Given the description of an element on the screen output the (x, y) to click on. 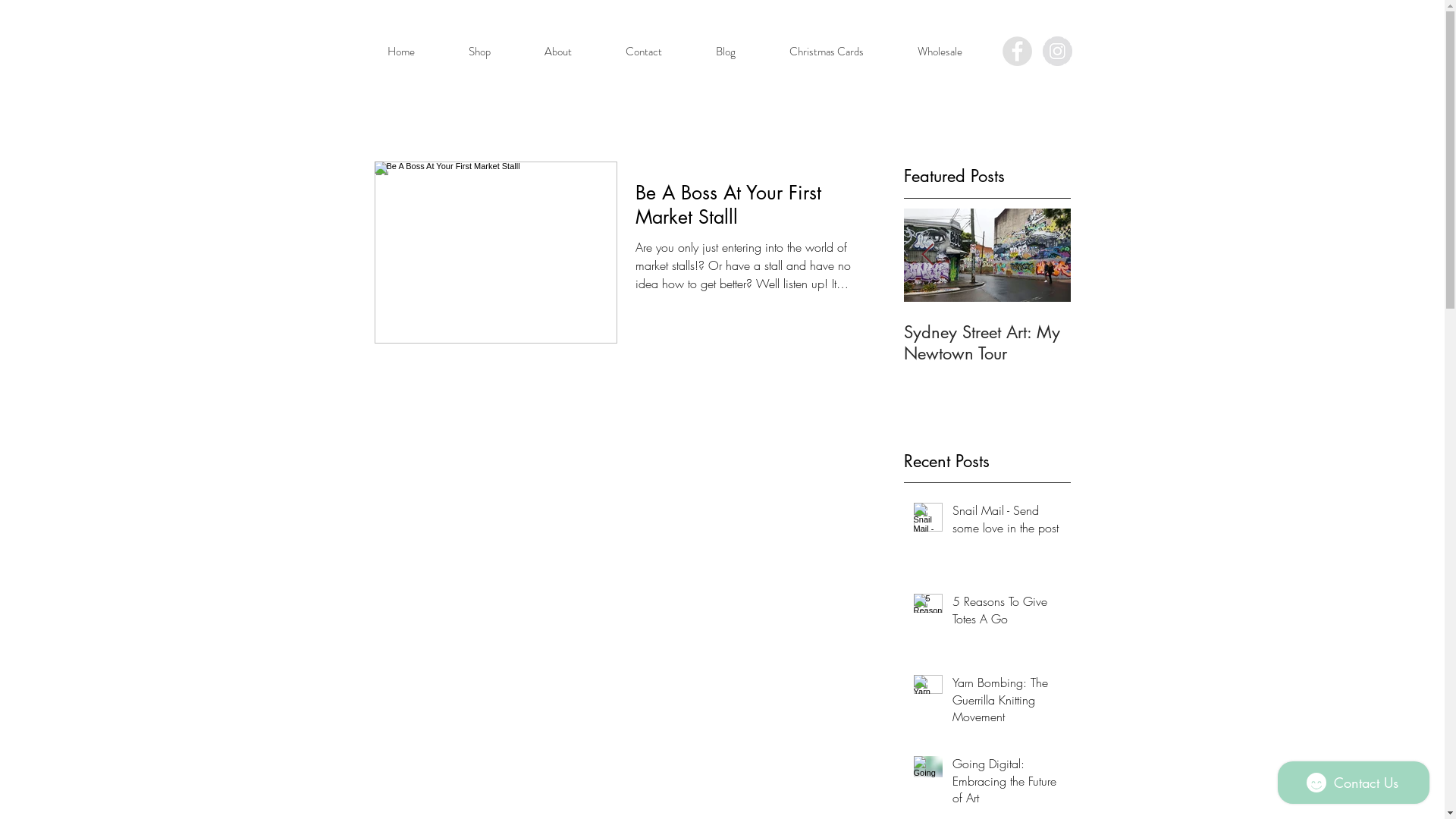
Contact Element type: text (644, 51)
Home Element type: text (400, 51)
Snail Mail - Send some love in the post Element type: text (653, 342)
Yarn Bombing: The Guerrilla Knitting Movement Element type: text (1006, 702)
Sydney Street Art: My Newtown Tour Element type: text (986, 342)
5 Reasons To Give Totes A Go Element type: text (1006, 613)
About Element type: text (557, 51)
Be A Boss At Your First Market Stalll Element type: text (750, 208)
5 Reasons To Give Totes A Go Element type: text (820, 342)
Snail Mail - Send some love in the post Element type: text (1006, 522)
Wholesale Element type: text (939, 51)
Going Digital: Embracing the Future of Art Element type: text (1006, 783)
Christmas Cards Element type: text (826, 51)
Blog Element type: text (725, 51)
